Given the description of an element on the screen output the (x, y) to click on. 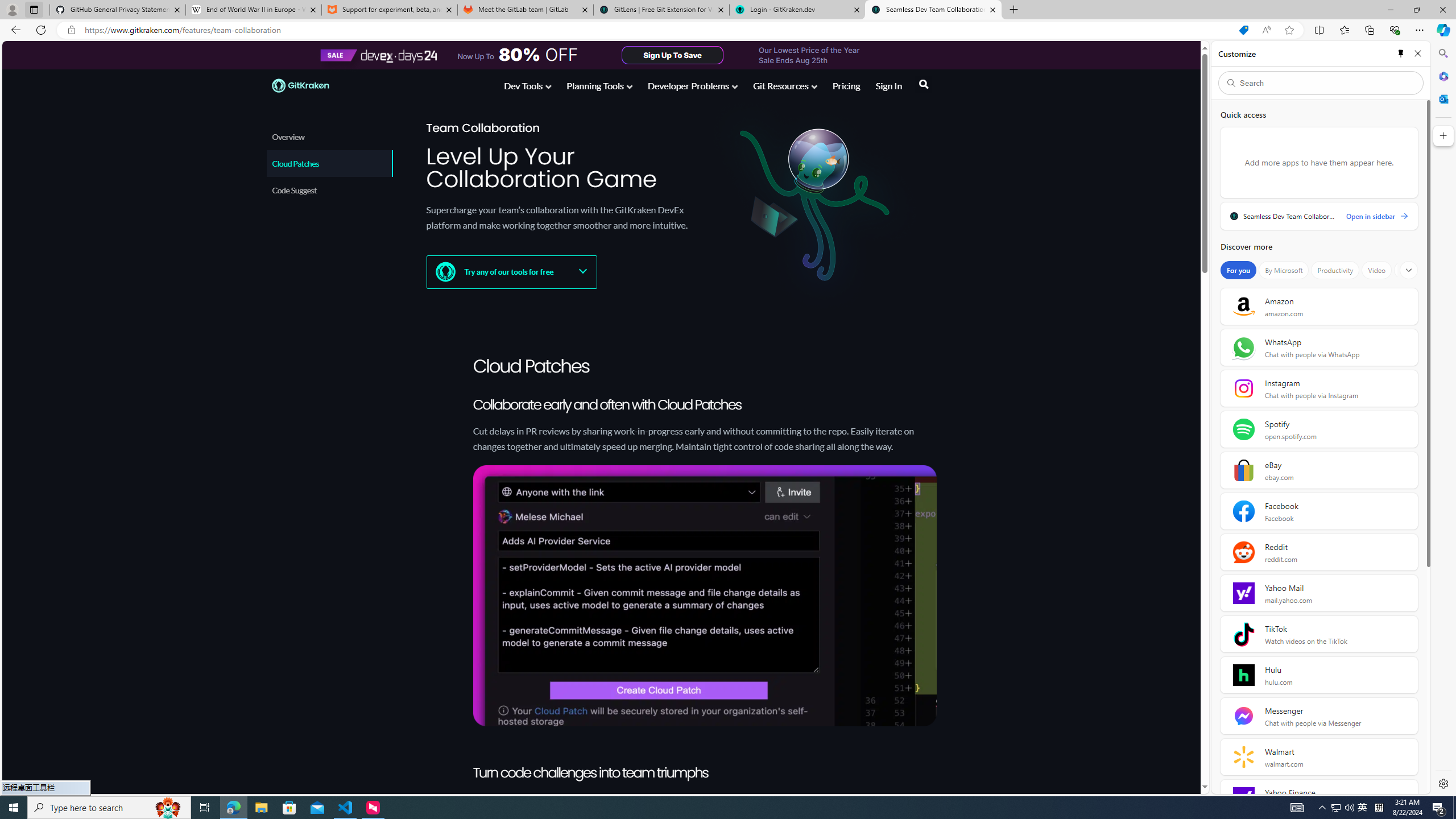
Sign Up To Save (672, 54)
By Microsoft (1282, 270)
Productivity (1334, 270)
